Given the description of an element on the screen output the (x, y) to click on. 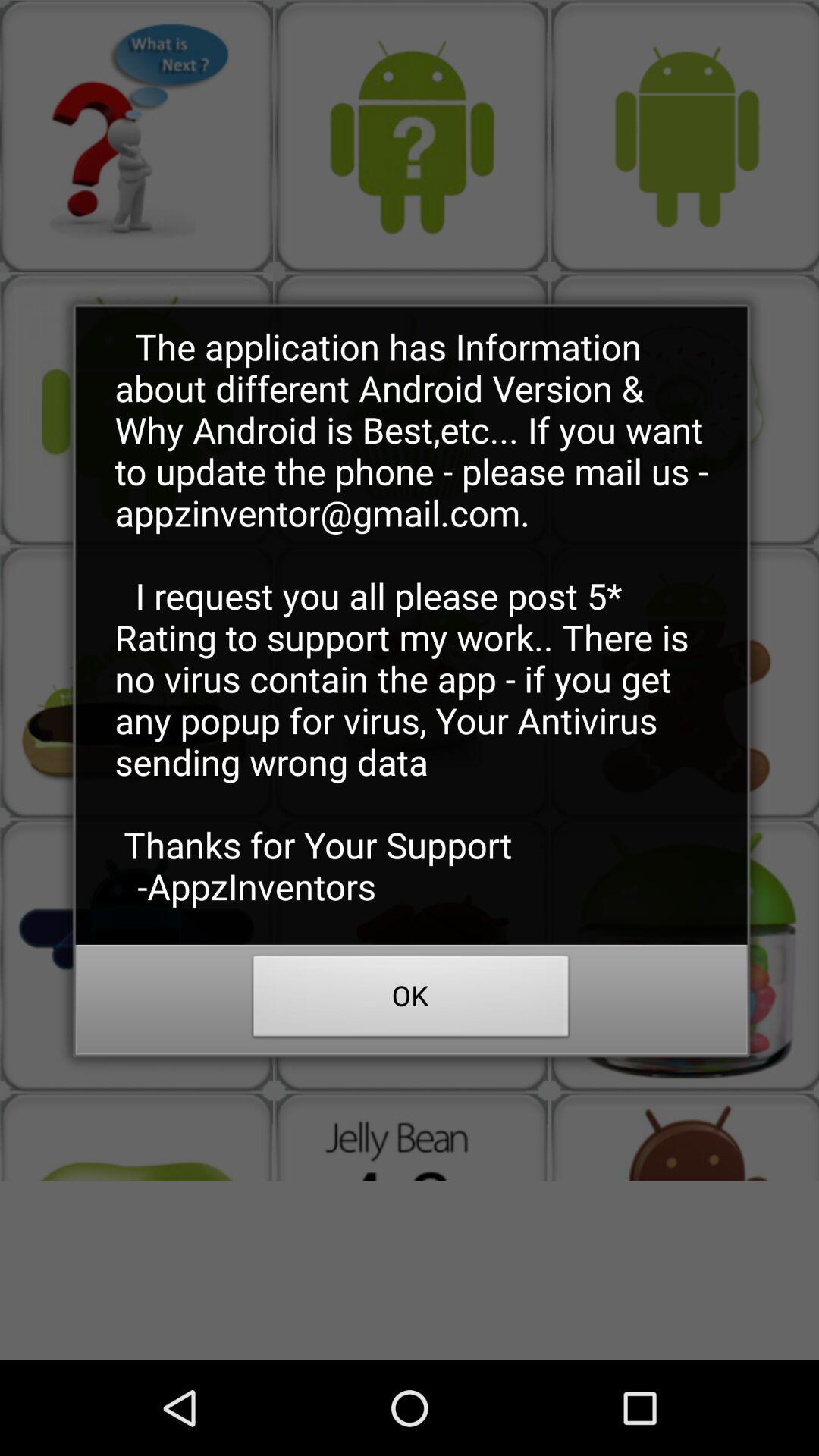
click ok at the bottom (410, 1000)
